Given the description of an element on the screen output the (x, y) to click on. 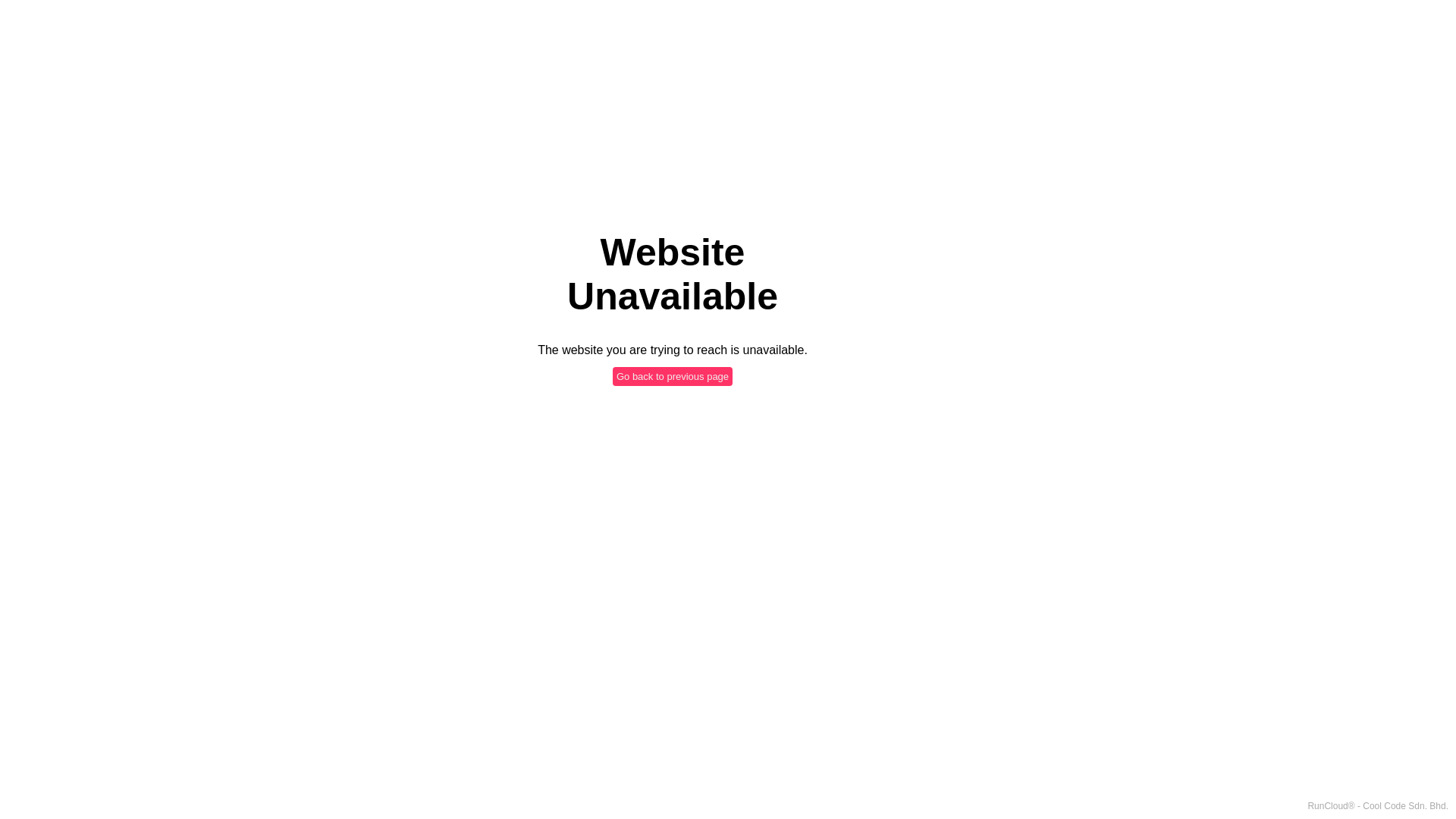
Go back to previous page Element type: text (672, 376)
